Given the description of an element on the screen output the (x, y) to click on. 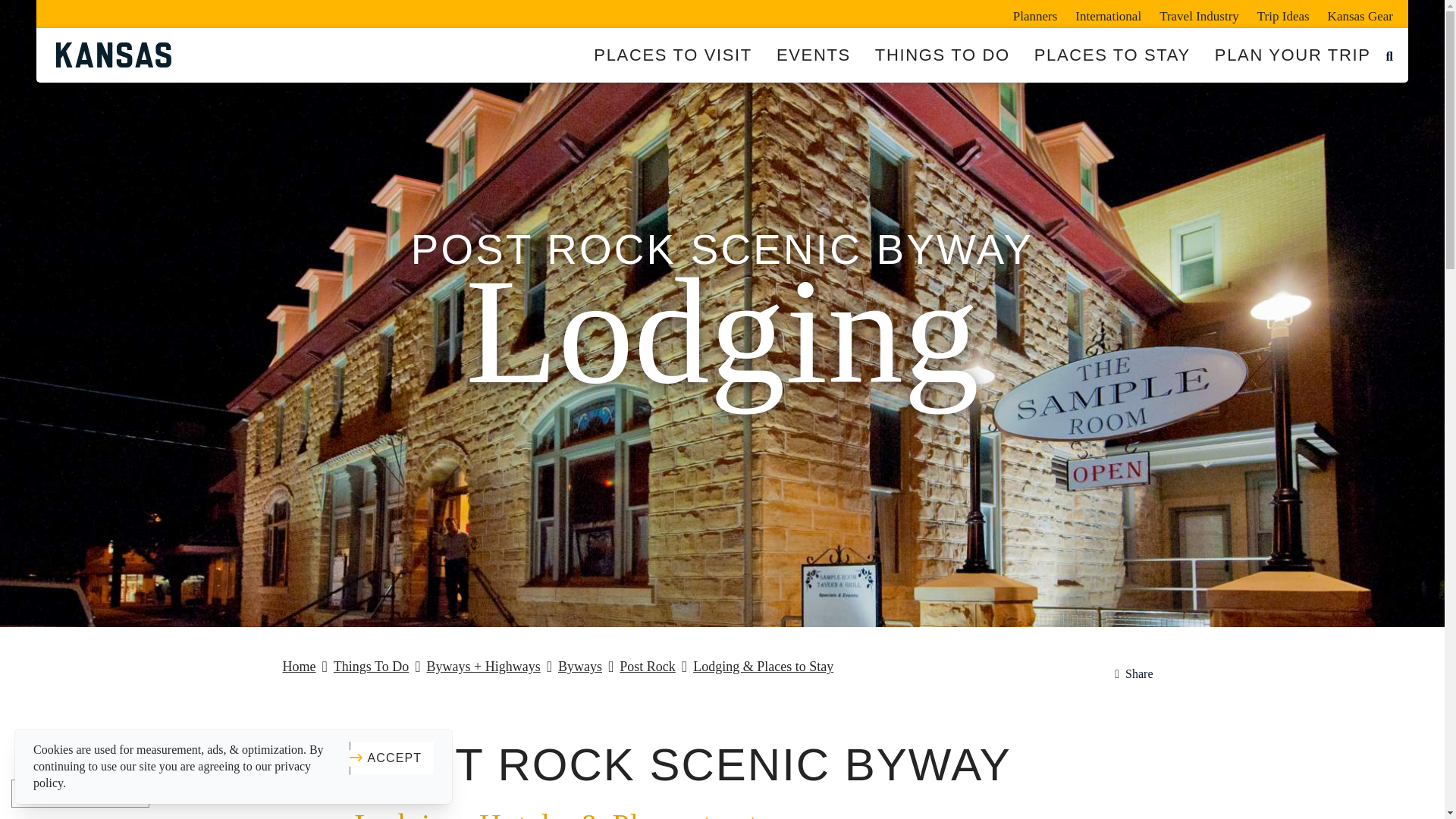
International (1107, 13)
THINGS TO DO (942, 54)
Trip Ideas (1283, 13)
Planners (1035, 13)
PLACES TO STAY (1112, 54)
EVENTS (813, 54)
PLACES TO VISIT (672, 54)
Kansas Gear (1356, 13)
Travel Industry (1198, 13)
